Given the description of an element on the screen output the (x, y) to click on. 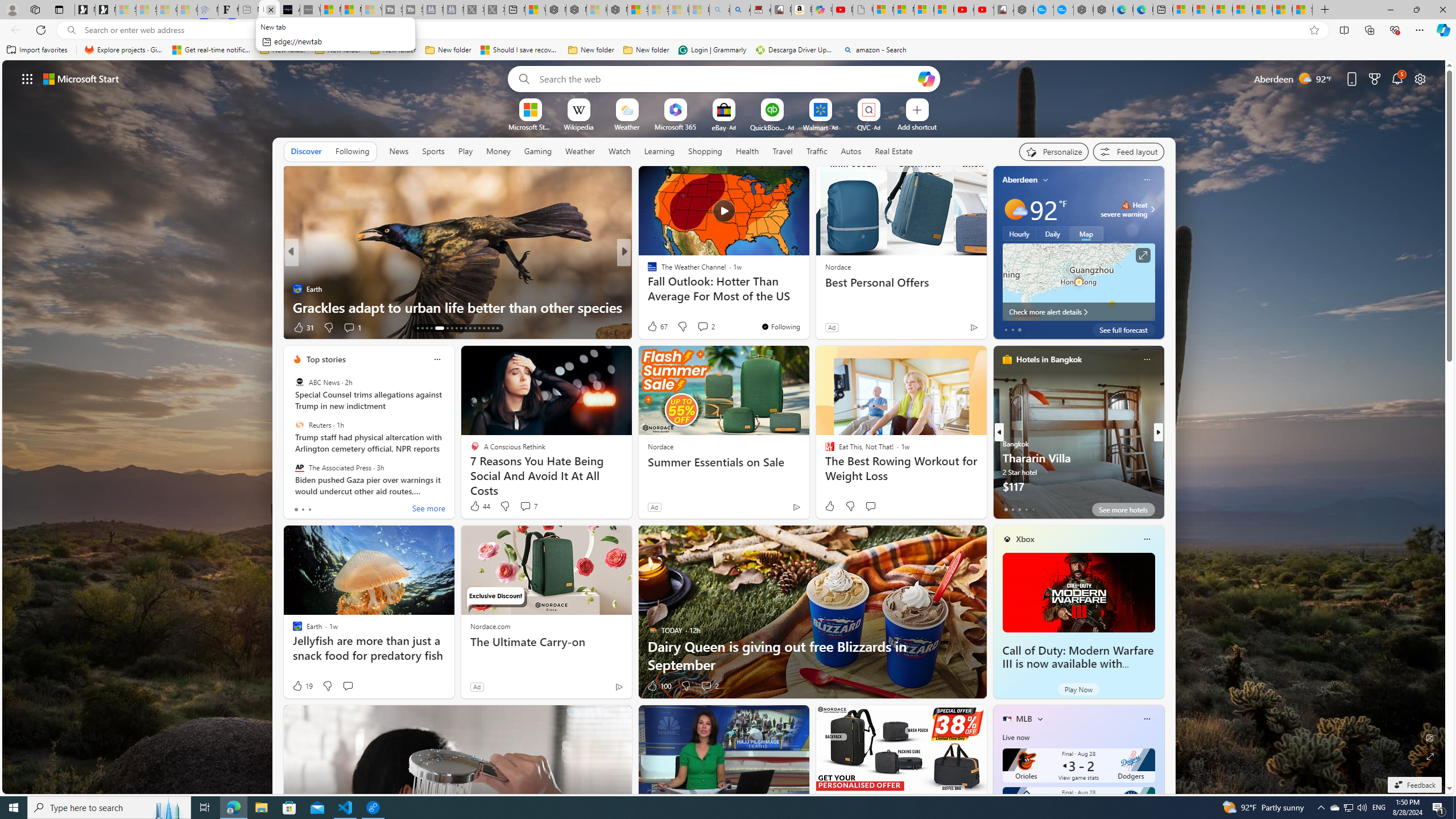
19 Like (301, 685)
Copilot (Ctrl+Shift+.) (1442, 29)
Microsoft rewards (1374, 78)
See more (428, 509)
Microsoft start (81, 78)
Browser essentials (1394, 29)
Favorites bar (728, 49)
Nordace - My Account (1023, 9)
Weather (580, 151)
Refresh (40, 29)
AutomationID: tab-17 (417, 328)
Add a site (916, 126)
